Given the description of an element on the screen output the (x, y) to click on. 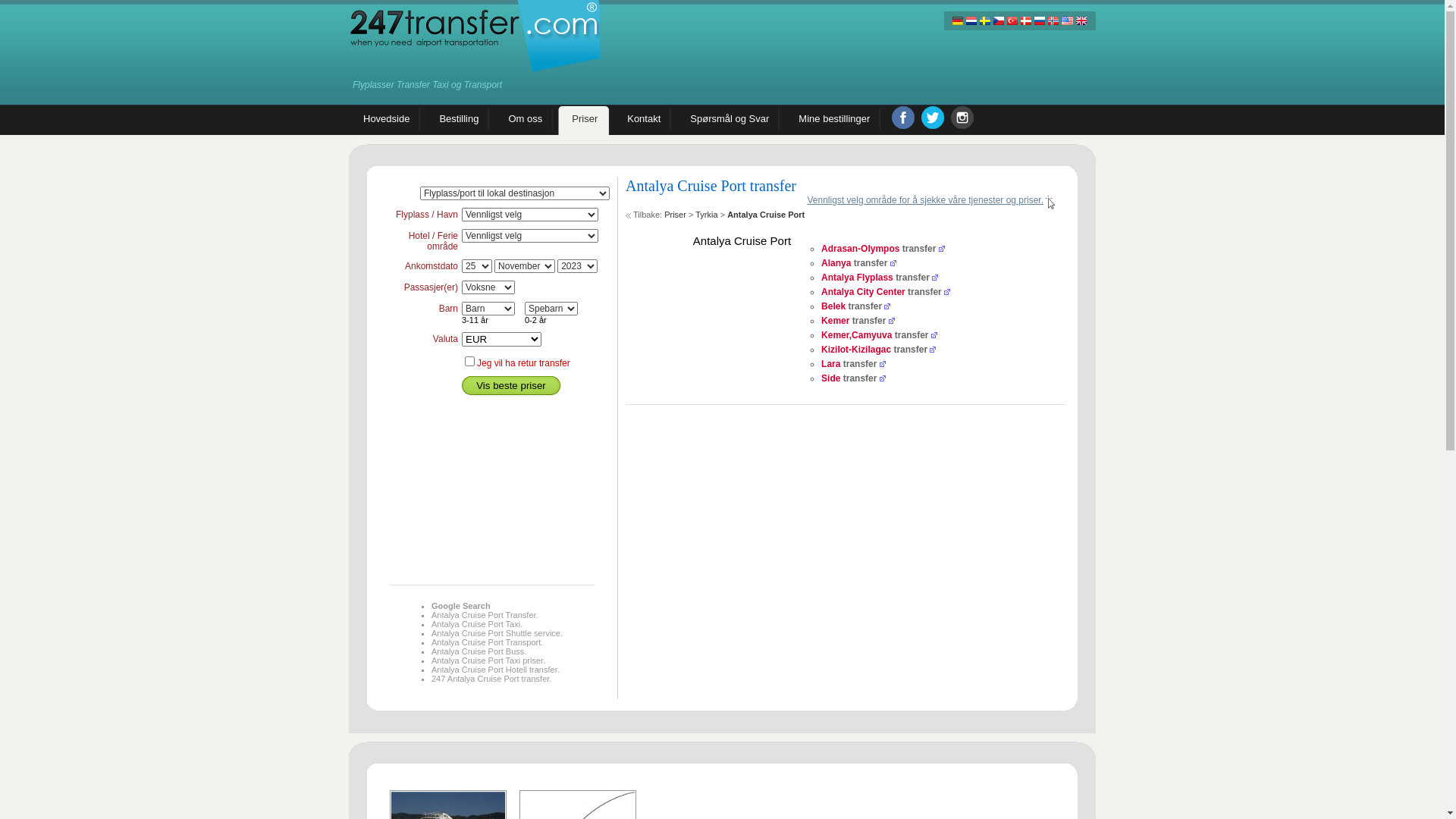
Tyrkia Element type: text (706, 214)
247Transfer.COM Element type: hover (473, 36)
Antalya Cruise Port Antalya City Center transfer Element type: hover (947, 291)
Transfer-USA Element type: hover (1066, 20)
Antalya Cruise Port Kemer,Camyuva transfer Element type: hover (934, 334)
Vis beste priser Element type: hover (510, 385)
2023
2024 Element type: text (577, 266)
Transfer-DAN Element type: hover (1025, 20)
Kizilot-Kizilagac Element type: text (856, 349)
Antalya Cruise Port Kemer transfer Element type: hover (891, 320)
Antalya City Center Element type: text (863, 291)
Priser Element type: text (675, 214)
Antalya Flyplass Element type: text (857, 277)
Transfer-RUS Element type: hover (1039, 20)
Antalya Cruise Port Side transfer Element type: hover (882, 378)
Transfer-GBR Element type: hover (1080, 20)
Transfer-CZE Element type: hover (998, 20)
Vennligst velg
EUR
GBP
USD
TRL Element type: text (501, 339)
Lara Element type: text (830, 363)
Antalya Cruise Port Antalya Flyplass transfer Element type: hover (934, 277)
Transfer-SVE Element type: hover (985, 20)
Kemer,Camyuva Element type: text (856, 334)
Antalya Cruise Port Kizilot-Kizilagac transfer Element type: hover (932, 349)
Mine bestillinger Element type: text (834, 120)
Belek Element type: text (833, 306)
Antalya Cruise Port Adrasan-Olympos transfer Element type: hover (941, 248)
Antalya Cruise Port Belek transfer Element type: hover (887, 306)
Hovedside Element type: text (386, 120)
Transfer-NOR Element type: hover (1053, 20)
instagram Element type: hover (961, 117)
Side Element type: text (830, 378)
Priser Element type: text (584, 120)
Kemer Element type: text (835, 320)
Transfer-DEU Element type: hover (957, 20)
Follow us on Facebook Element type: hover (902, 117)
Kontakt Element type: text (643, 120)
Vis beste priser Element type: text (510, 385)
Antalya Cruise Port Alanya transfer Element type: hover (893, 262)
Om oss Element type: text (525, 120)
Adrasan-Olympos Element type: text (860, 248)
Alanya Element type: text (835, 262)
Bestilling Element type: text (458, 120)
Antalya Cruise Port Lara transfer Element type: hover (882, 363)
Follow us on Twitter Element type: hover (932, 117)
Transfer-TUR Element type: hover (1012, 20)
Transfer-NED Element type: hover (971, 20)
